Given the description of an element on the screen output the (x, y) to click on. 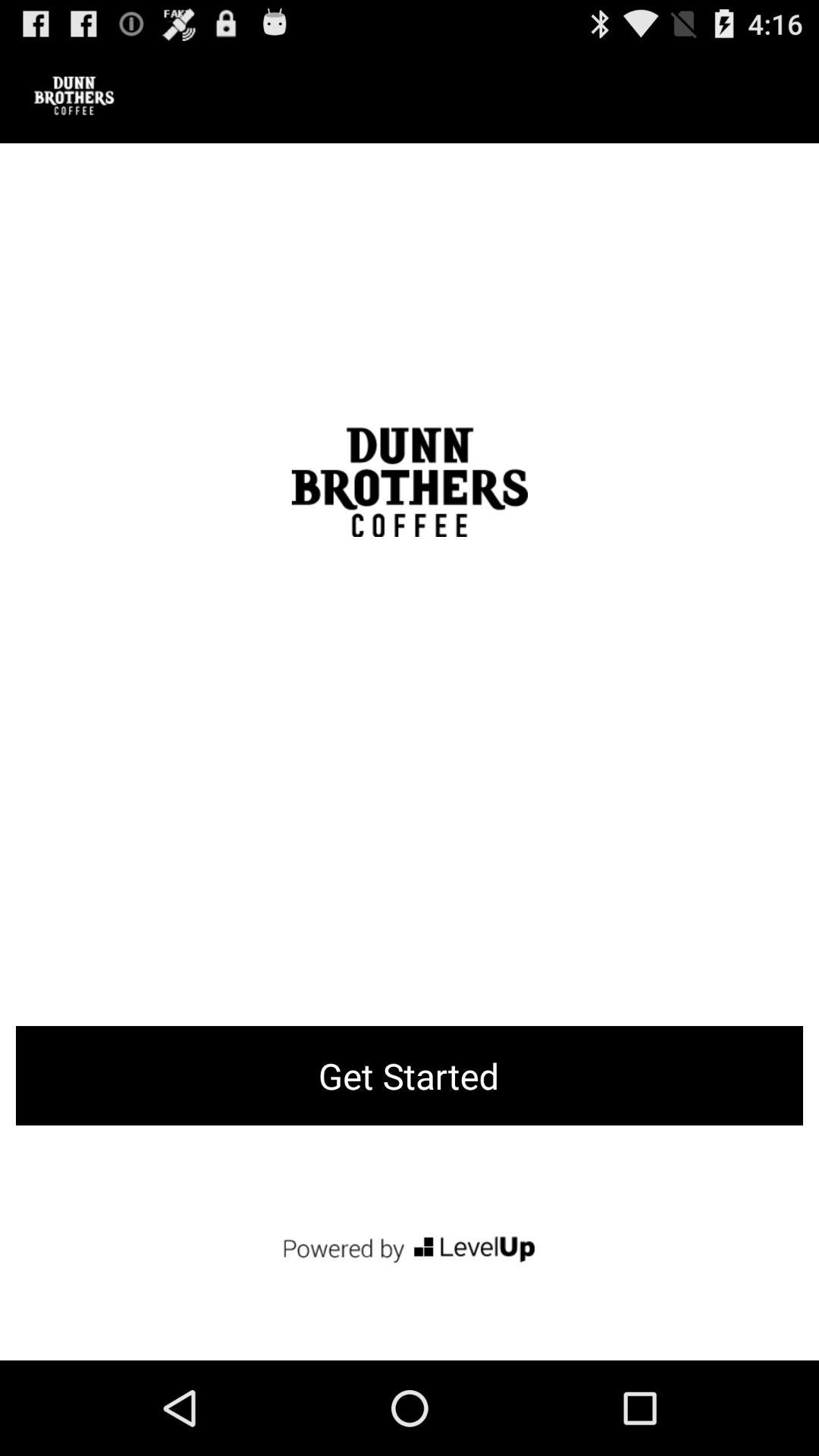
swipe until get started item (409, 1075)
